Given the description of an element on the screen output the (x, y) to click on. 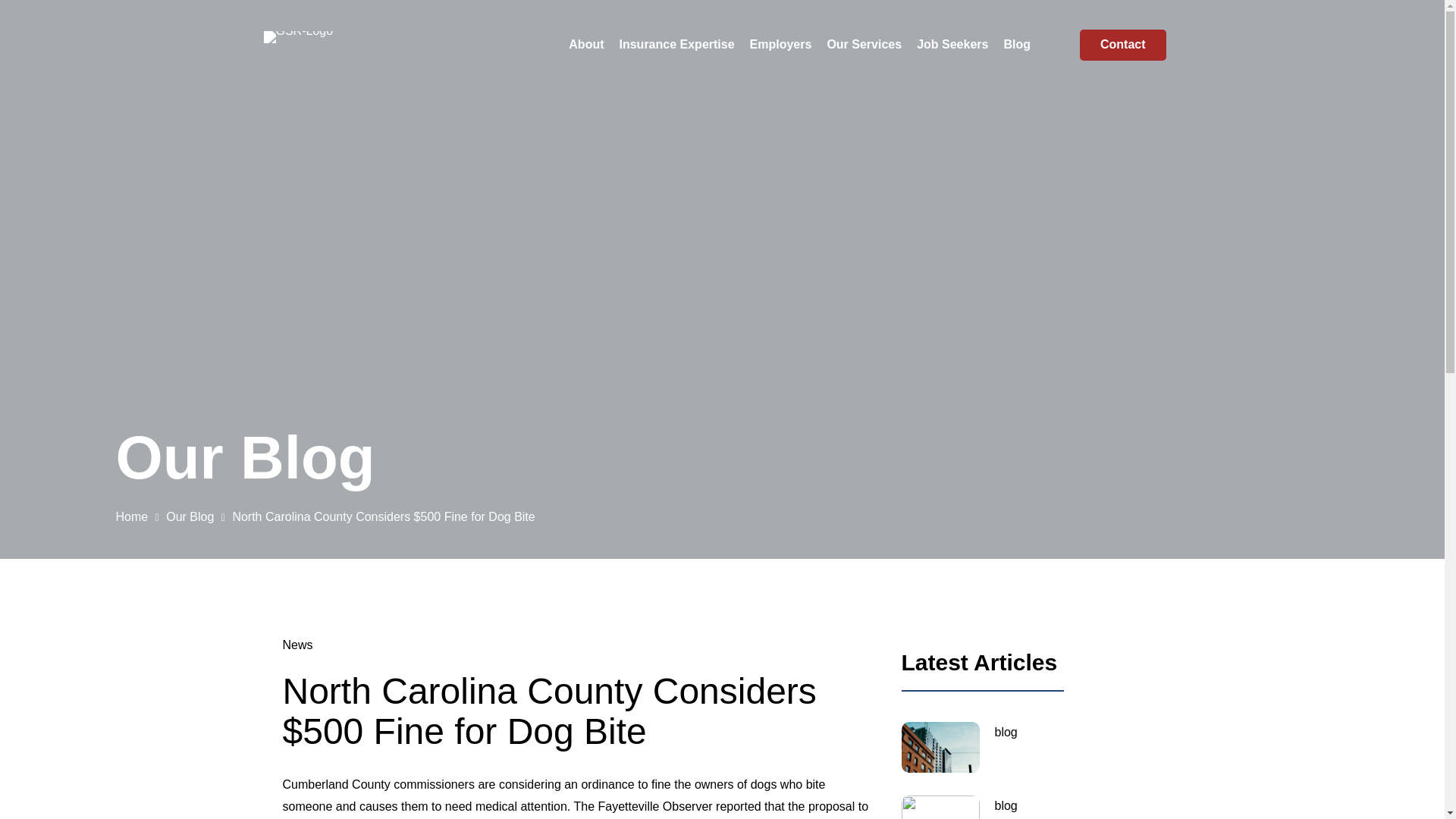
Insurance Expertise (676, 44)
blog (1031, 807)
Home (131, 516)
Our Services (863, 44)
Job Seekers (951, 44)
GSR-Logo (298, 37)
Contact (1123, 44)
Our Blog (189, 516)
Employers (780, 44)
blog (1031, 747)
